Given the description of an element on the screen output the (x, y) to click on. 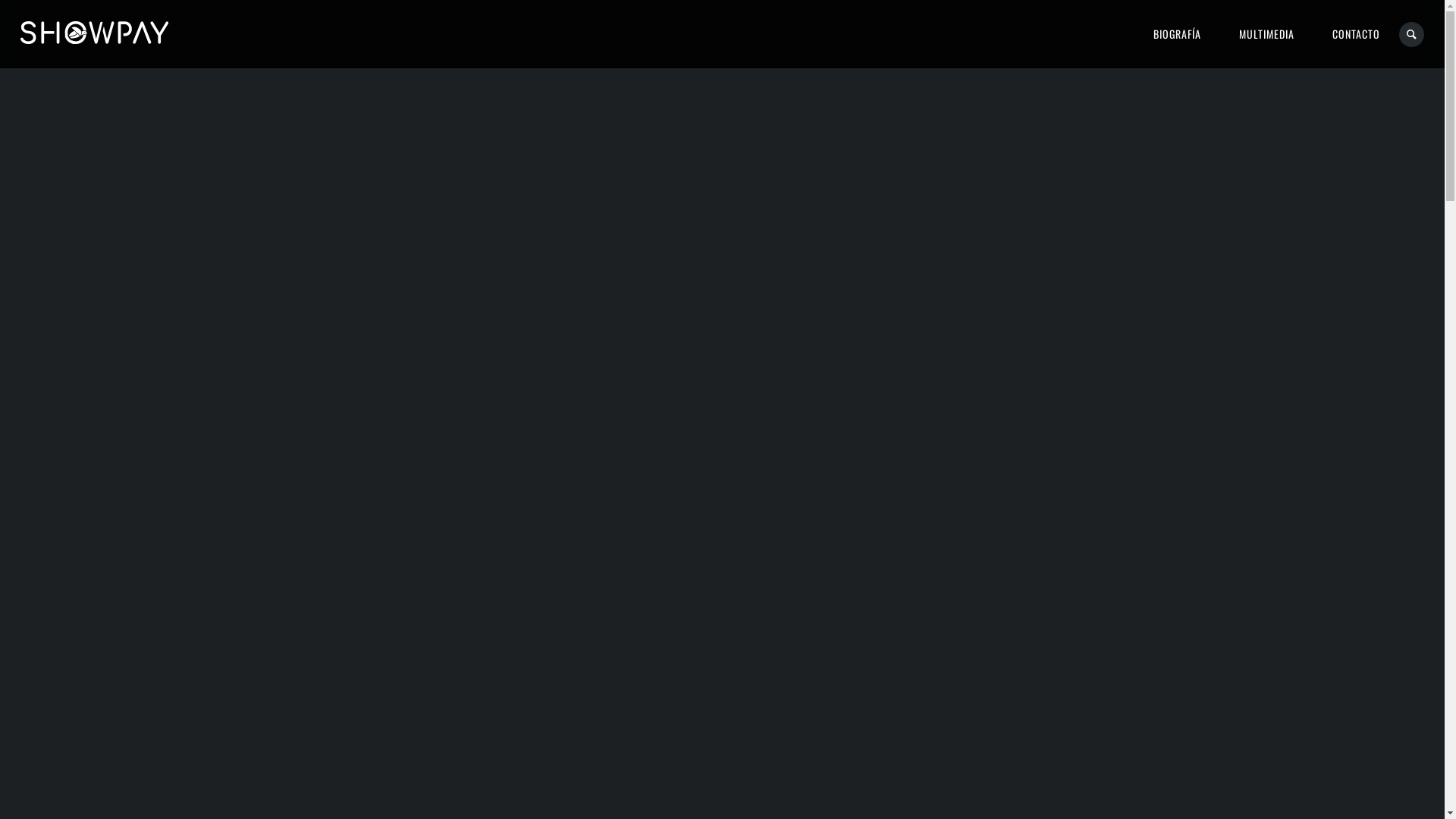
CONTACTO Element type: text (1356, 34)
MULTIMEDIA Element type: text (1266, 34)
Buscando... Element type: hover (1412, 34)
